Given the description of an element on the screen output the (x, y) to click on. 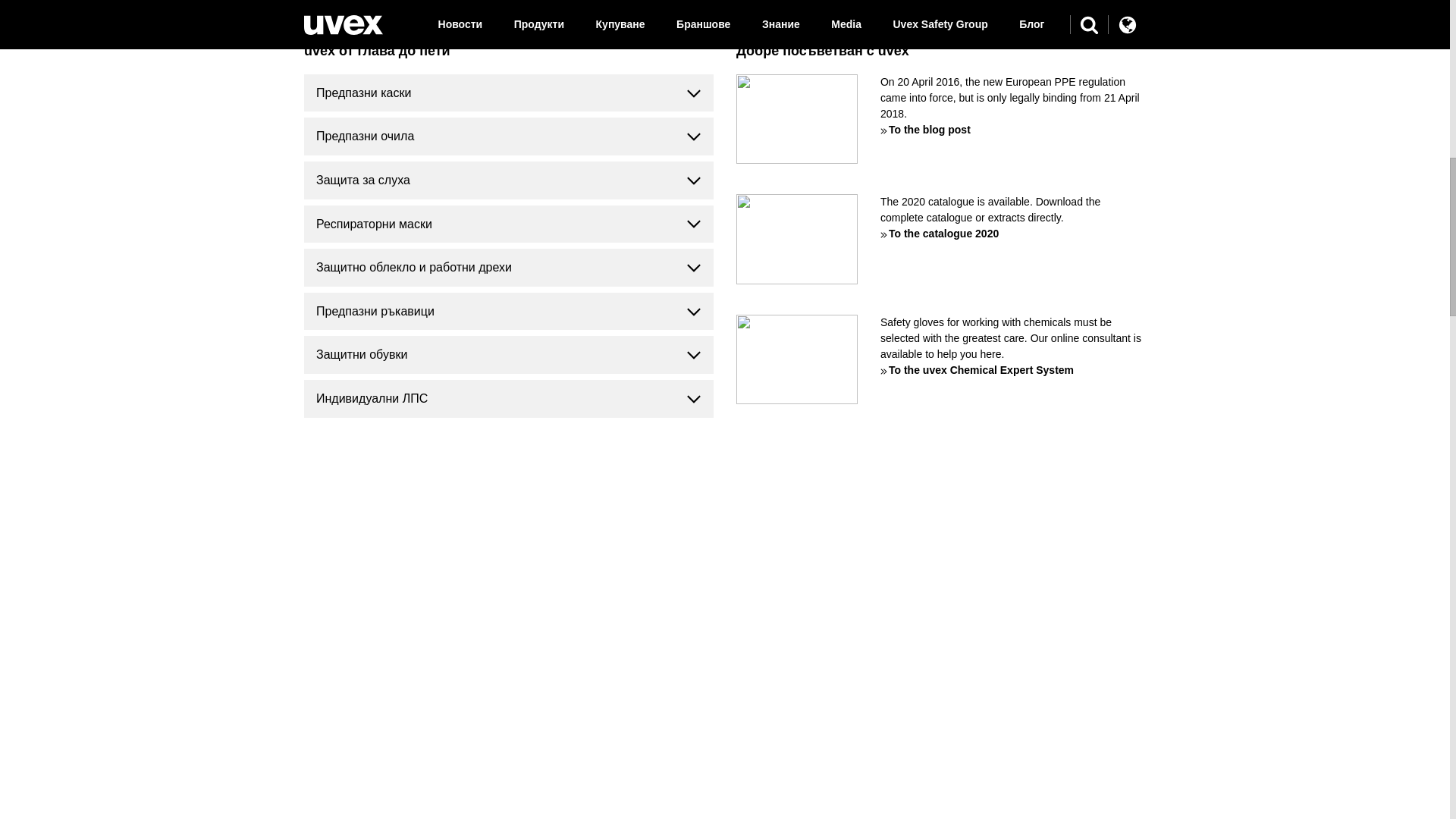
The new European PPE regulation (796, 119)
